Given the description of an element on the screen output the (x, y) to click on. 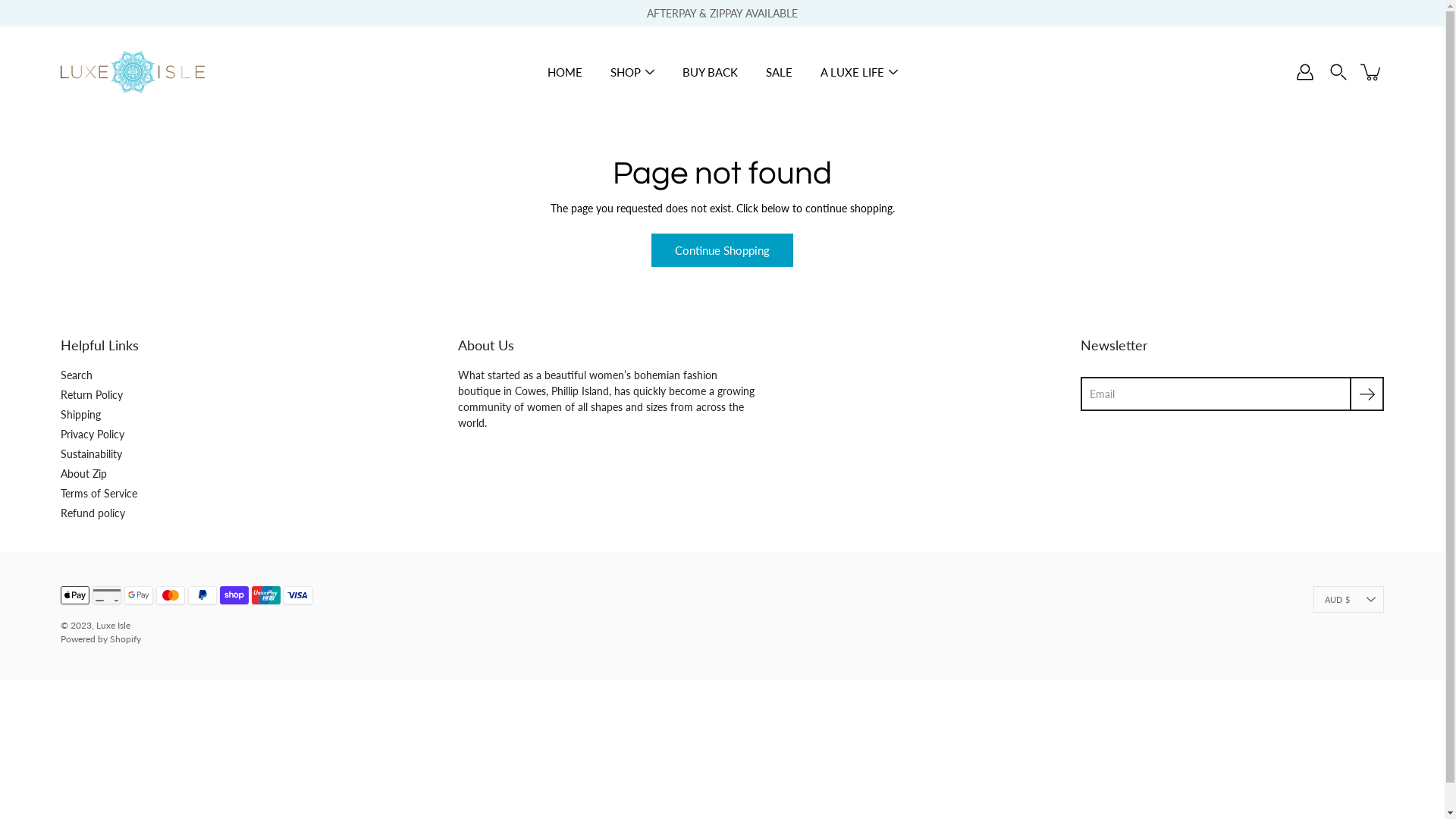
HOME Element type: text (564, 71)
AUD $ Element type: text (1348, 599)
A LUXE LIFE Element type: text (852, 71)
Shipping Element type: text (80, 413)
Return Policy Element type: text (91, 394)
Luxe Isle Element type: text (113, 624)
Privacy Policy Element type: text (92, 433)
Sustainability Element type: text (91, 453)
BUY BACK Element type: text (709, 71)
Continue Shopping Element type: text (722, 249)
SALE Element type: text (778, 71)
Refund policy Element type: text (92, 512)
About Zip Element type: text (83, 473)
Powered by Shopify Element type: text (100, 638)
SHOP Element type: text (624, 71)
Search Element type: text (76, 374)
Terms of Service Element type: text (98, 492)
